Given the description of an element on the screen output the (x, y) to click on. 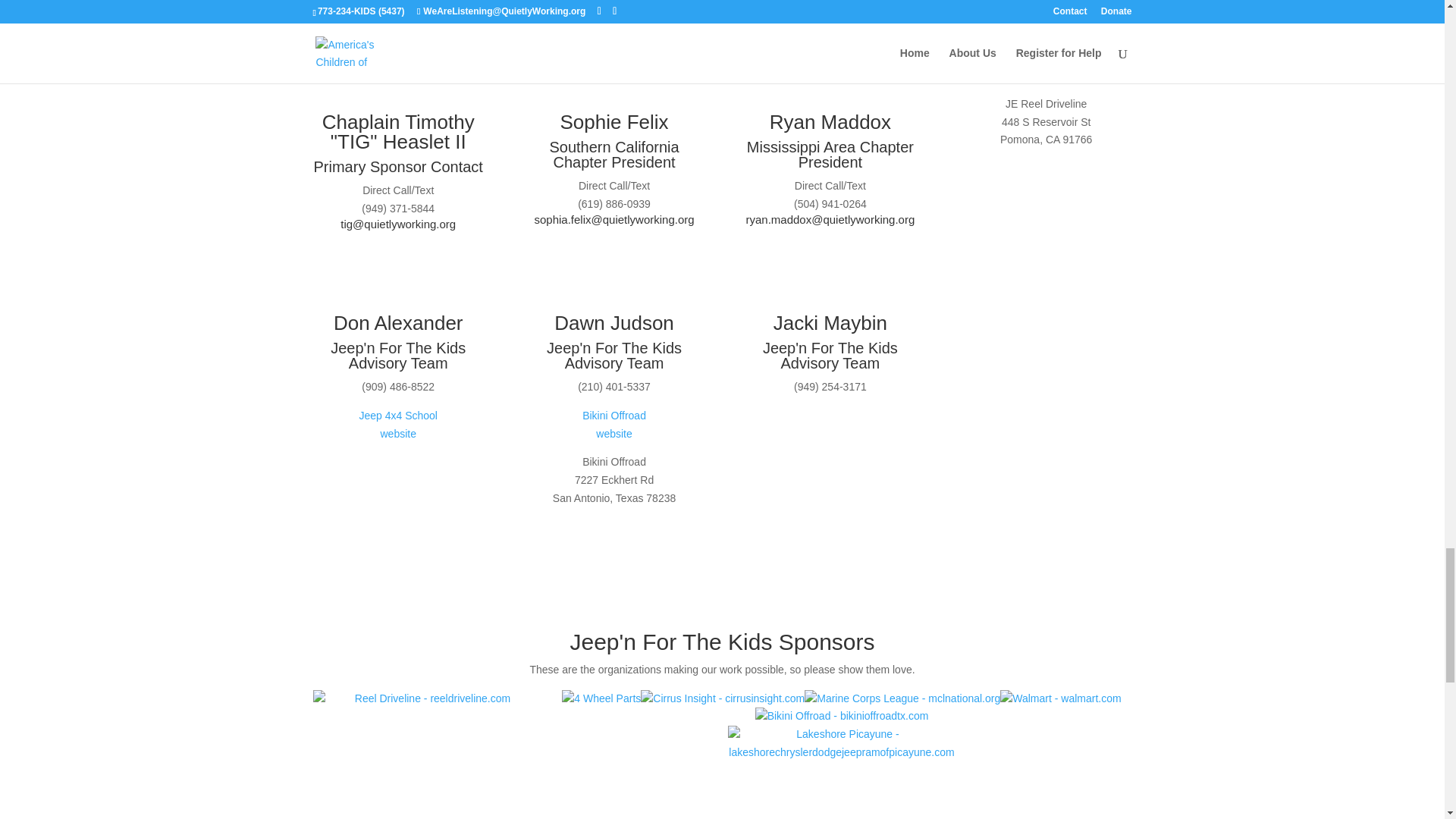
Reel Driveline - reeldriveline.com (426, 754)
website (1045, 74)
Reel Driveline (1045, 56)
Bikini Offroad (614, 415)
website (613, 433)
Don Alexander (398, 323)
Jeep 4x4 School (398, 415)
website (397, 433)
Dawn Judson (614, 323)
